Given the description of an element on the screen output the (x, y) to click on. 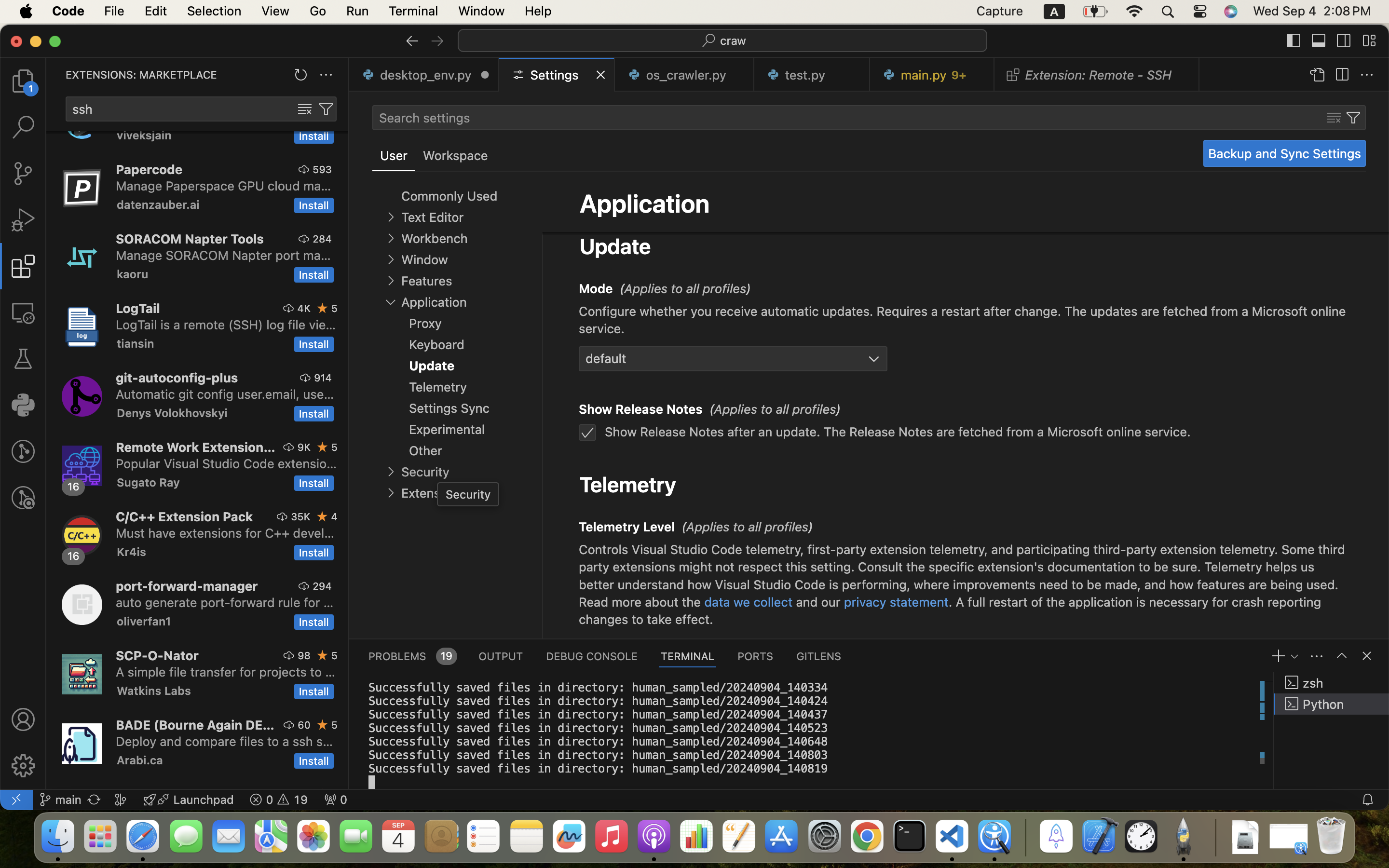
Automatic git config user.email, user.name, SSH key setting for vscode Element type: AXStaticText (224, 393)
Applies to all profiles Element type: AXStaticText (747, 526)
Kr4is Element type: AXStaticText (131, 551)
35K Element type: AXStaticText (300, 516)
 0 Element type: AXButton (335, 799)
